Given the description of an element on the screen output the (x, y) to click on. 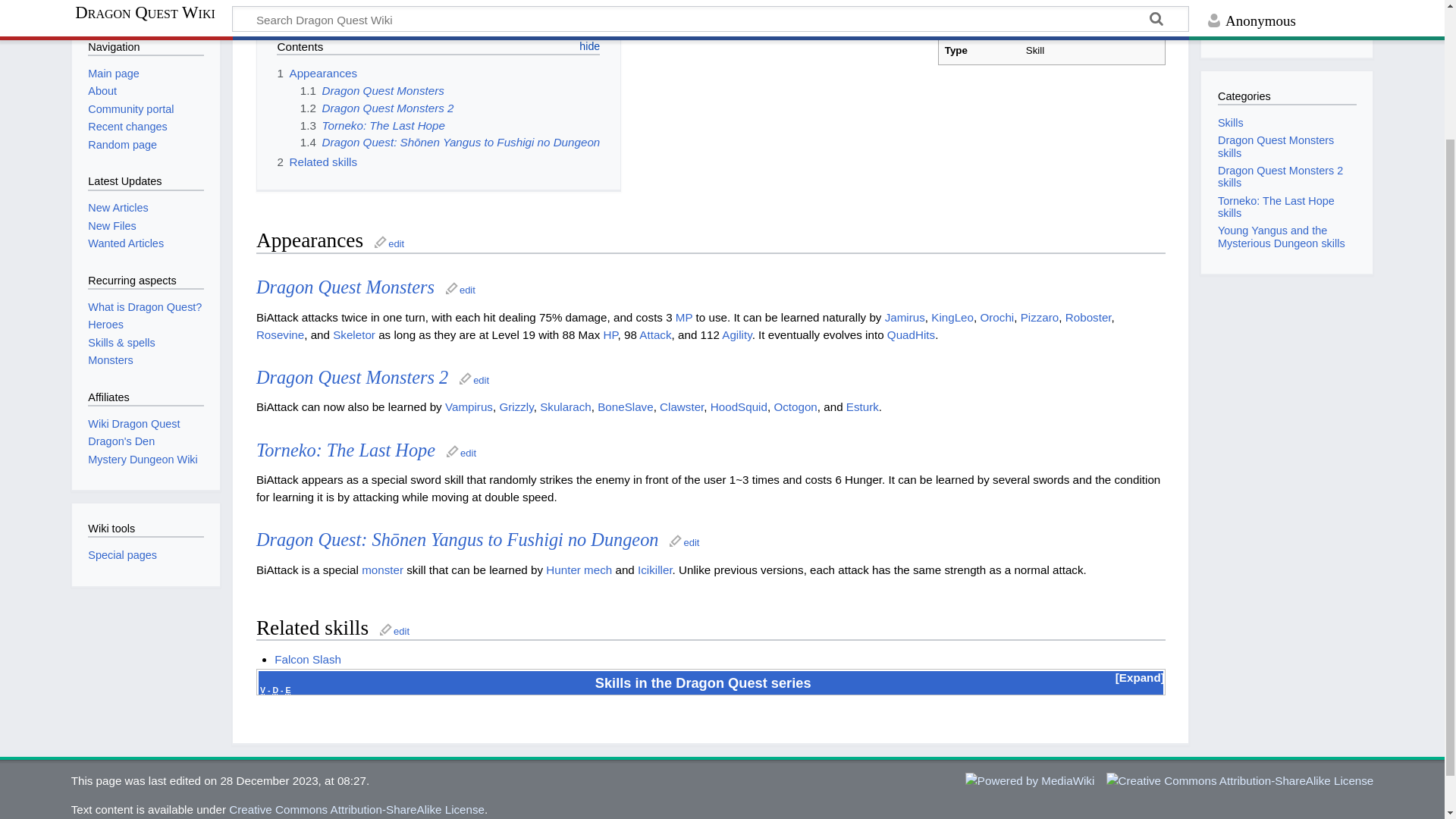
1.1 Dragon Quest Monsters (371, 90)
Jamirus (904, 317)
1.3 Torneko: The Last Hope (372, 124)
Vampirus (469, 406)
Rosevine (280, 334)
Grizzly (515, 406)
Attack (655, 334)
Dragon Quest Monsters 2 (352, 376)
2 Related skills (316, 161)
Dragon Quest Monsters (344, 286)
